Given the description of an element on the screen output the (x, y) to click on. 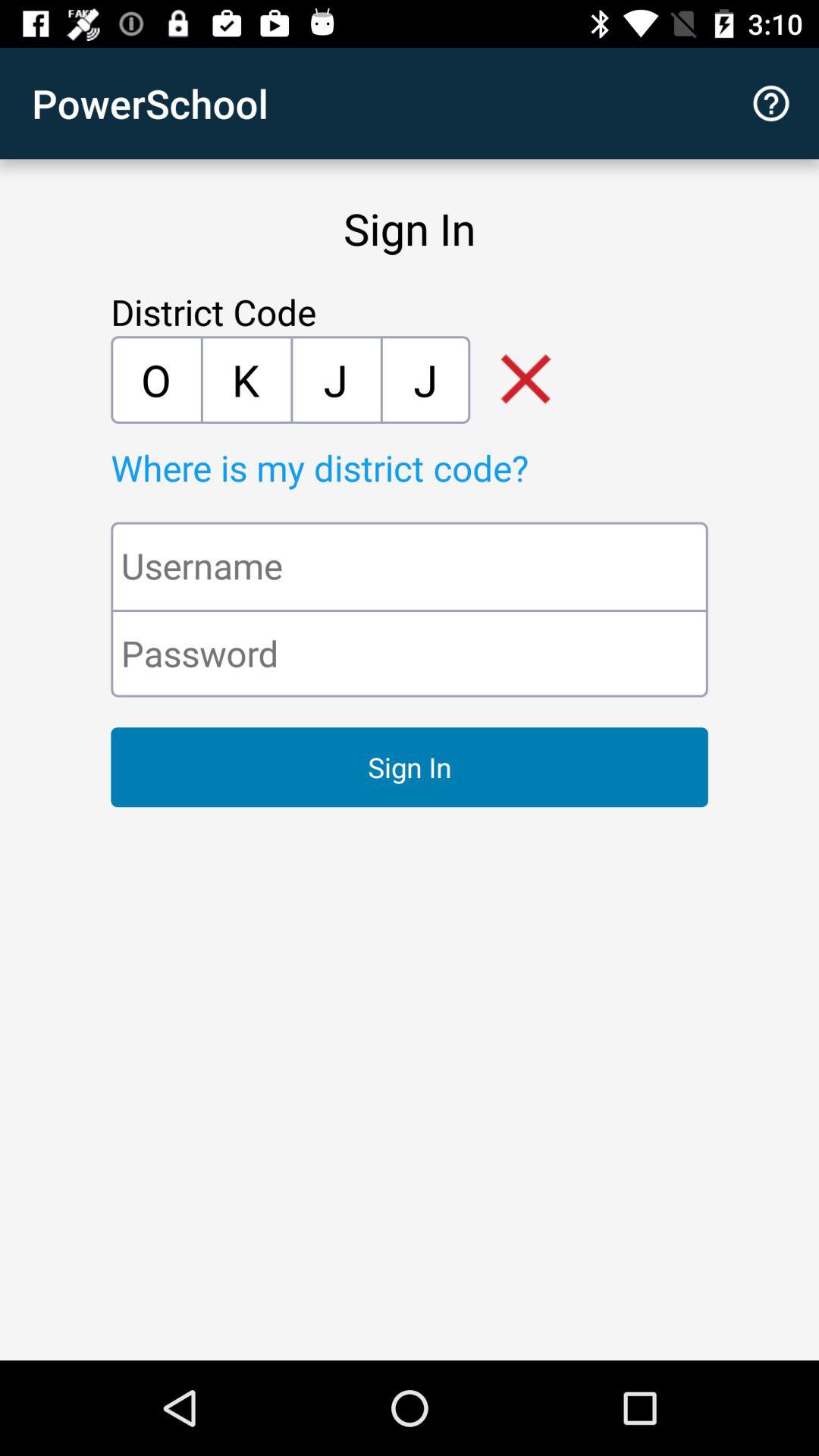
turn on icon to the right of the powerschool item (771, 103)
